Given the description of an element on the screen output the (x, y) to click on. 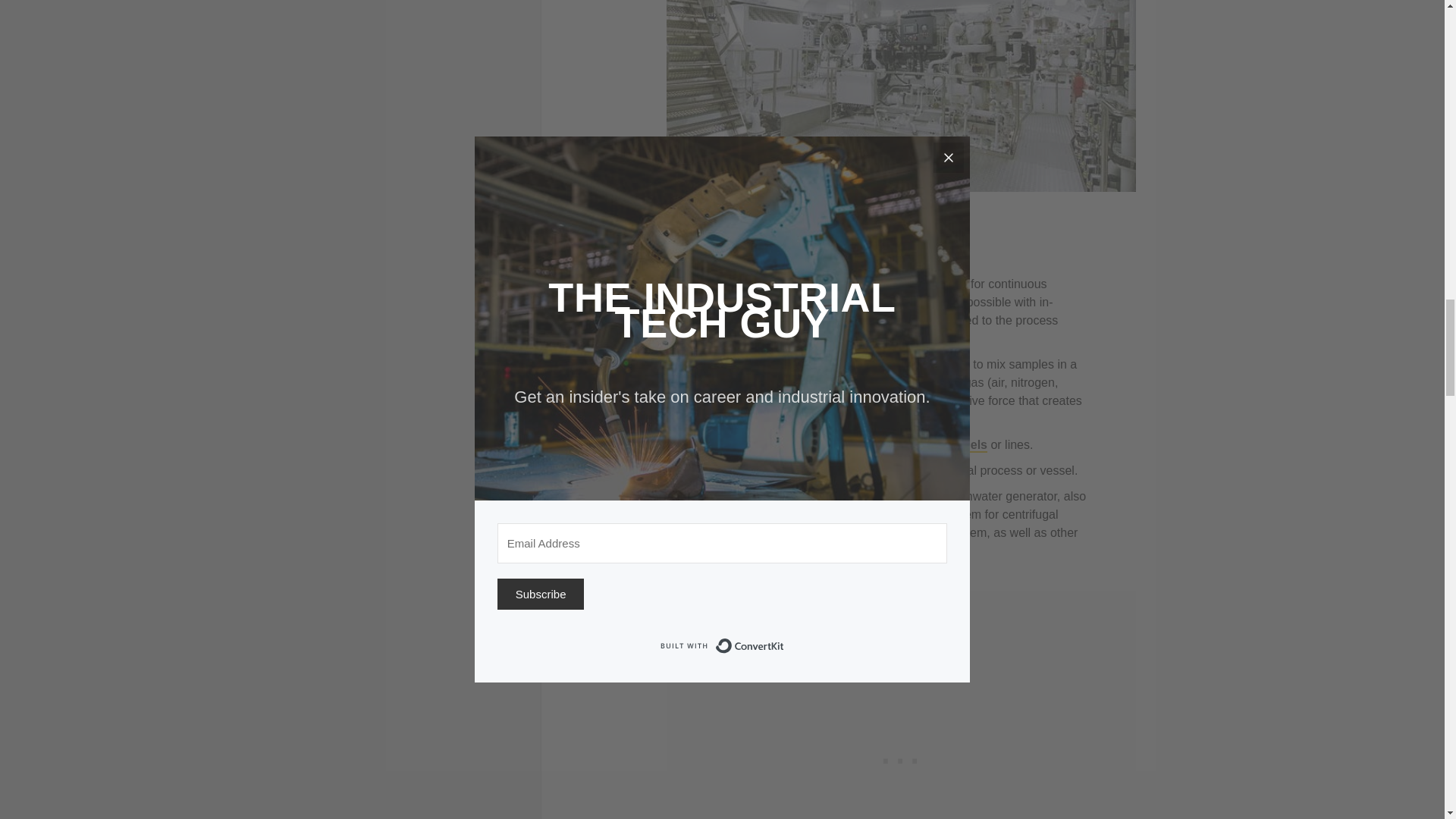
PLAN M8 (925, 201)
vessels (965, 445)
